Given the description of an element on the screen output the (x, y) to click on. 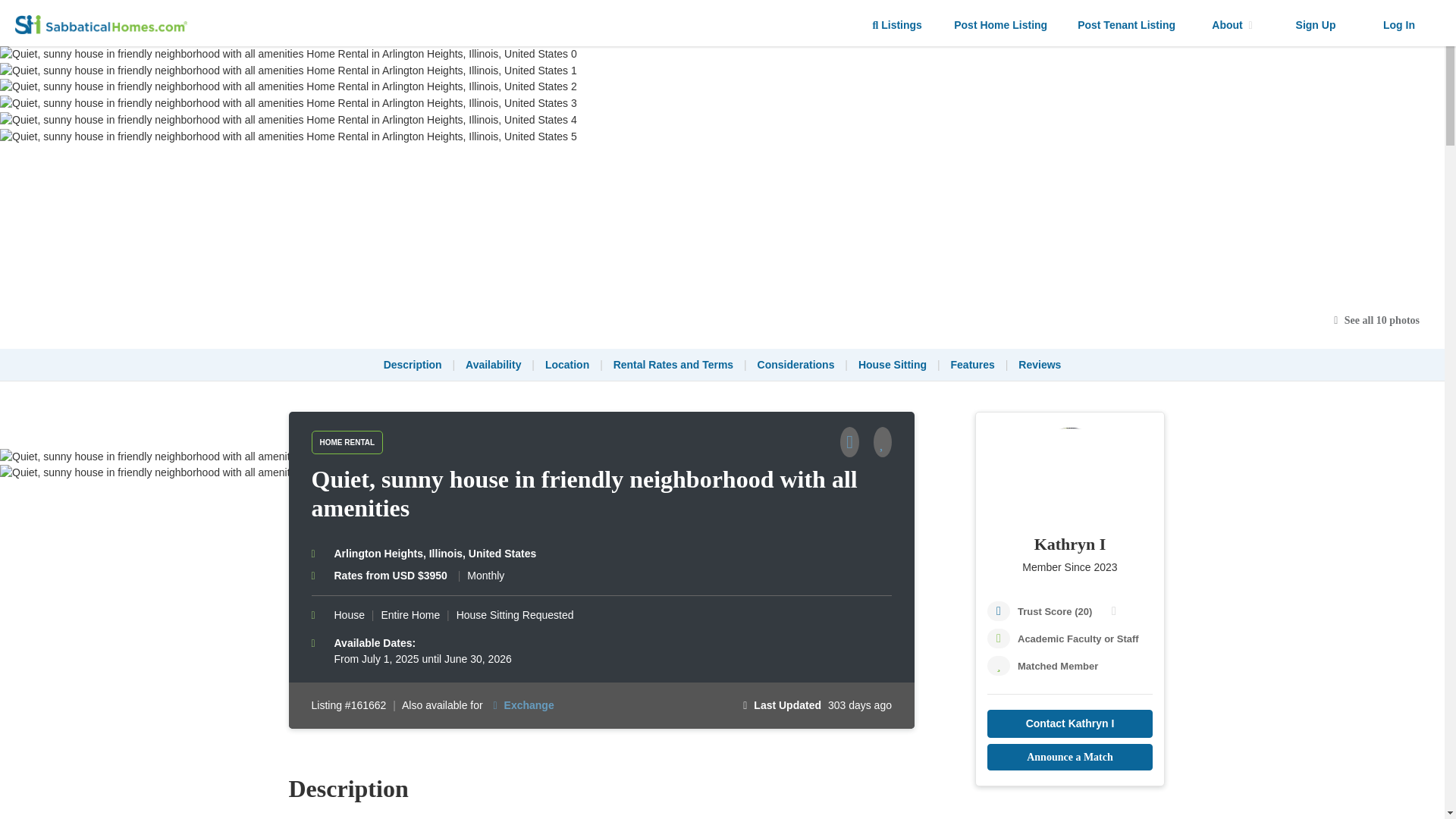
About (1232, 25)
Log In (1398, 25)
Sign Up (1315, 25)
Post Tenant Listing (1126, 25)
Share This Listing (855, 444)
Kathryn I (1070, 543)
Post Home Listing (1000, 25)
Listings (897, 25)
